Given the description of an element on the screen output the (x, y) to click on. 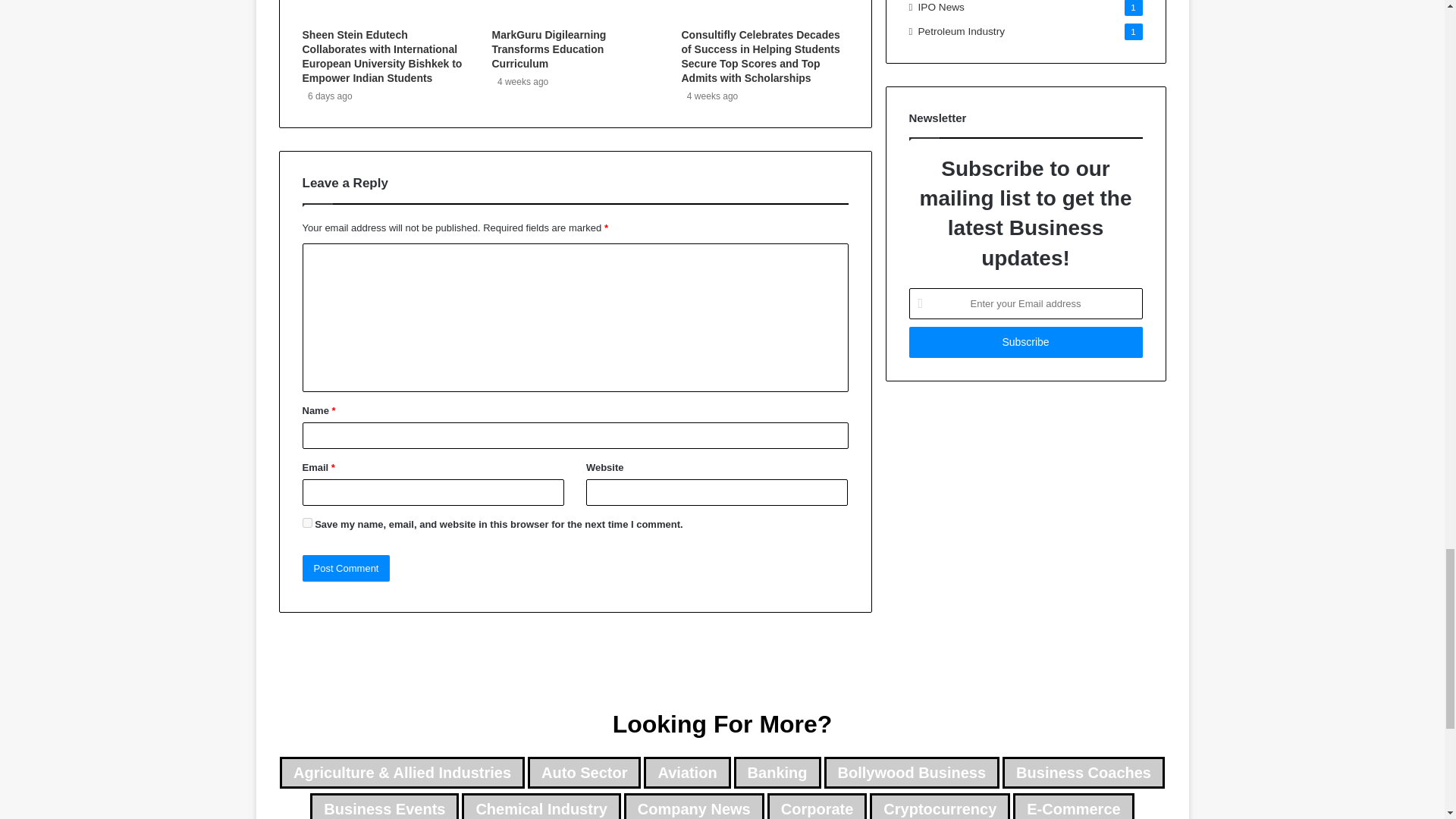
Post Comment (345, 568)
Subscribe (1025, 341)
yes (306, 522)
